Given the description of an element on the screen output the (x, y) to click on. 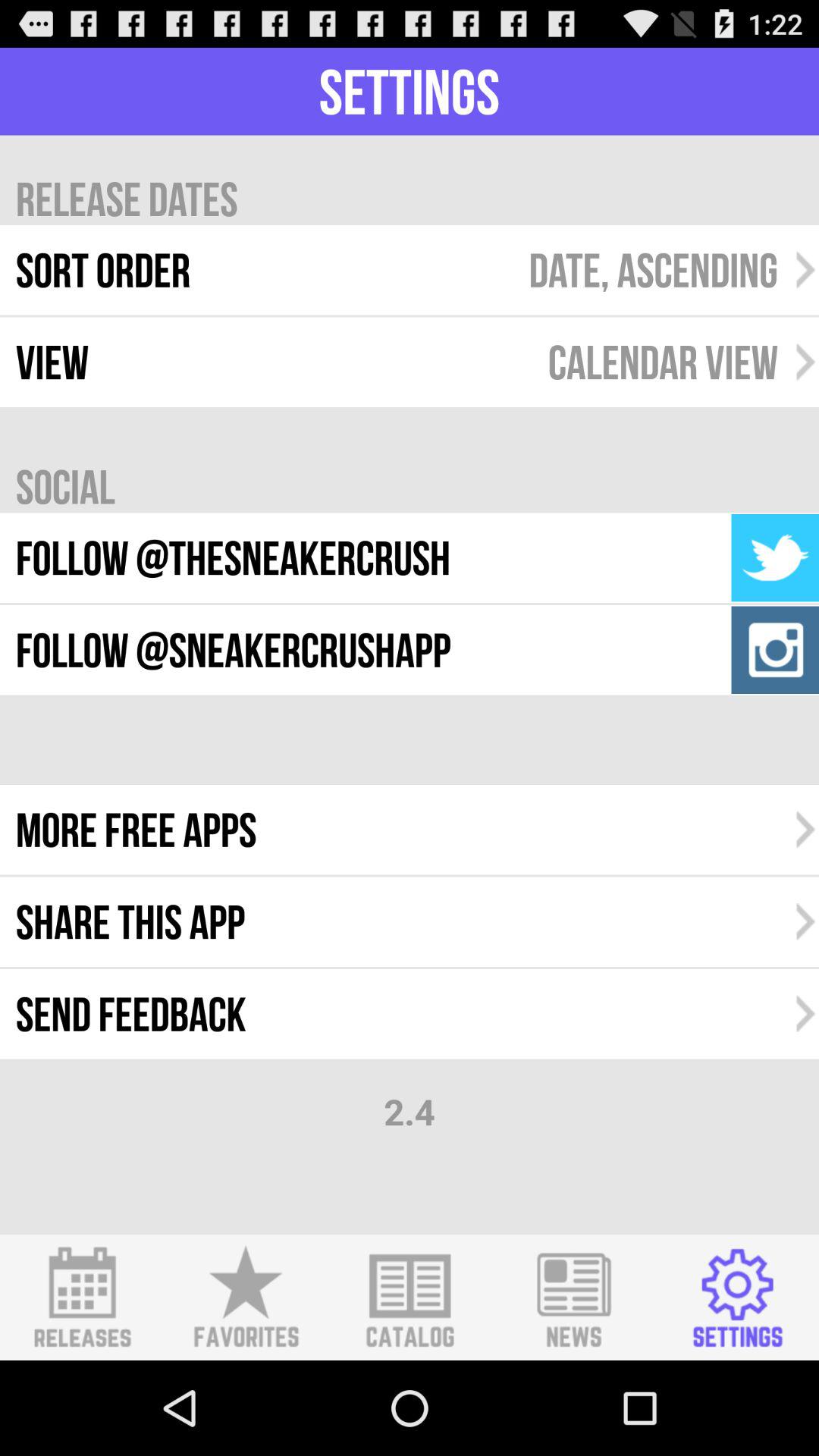
click app below the release dates (653, 269)
